Given the description of an element on the screen output the (x, y) to click on. 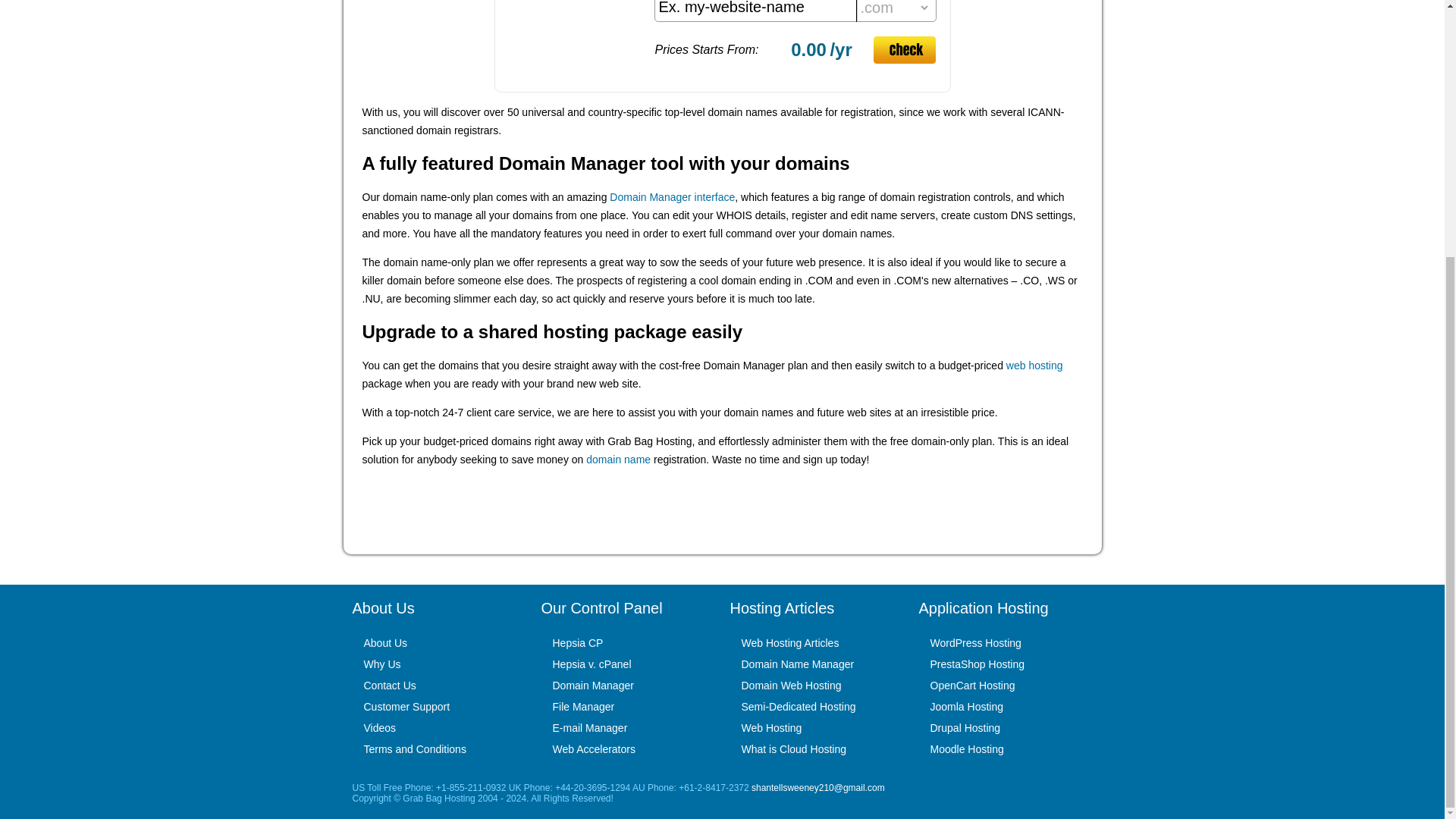
About Us (385, 643)
Domain Manager interface (672, 196)
Ex. my-website-name (756, 11)
text (756, 11)
Why Us (382, 664)
web hosting (1034, 365)
domain name (618, 459)
Contact Us (390, 685)
Customer Support (406, 706)
Videos (380, 727)
